Given the description of an element on the screen output the (x, y) to click on. 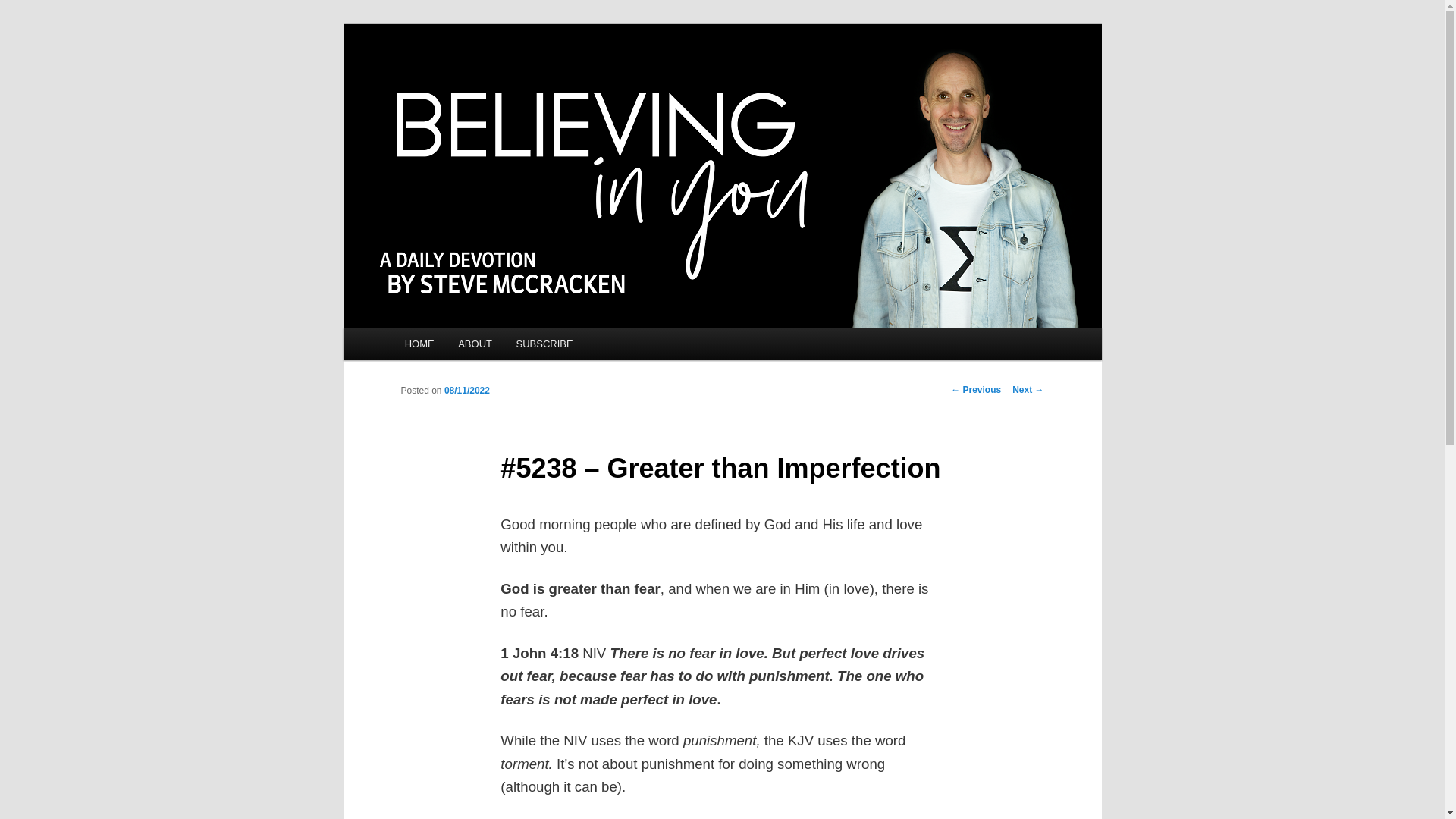
Believing In You (487, 78)
HOME (419, 343)
ABOUT (474, 343)
SUBSCRIBE (544, 343)
2:00 am (466, 389)
